Given the description of an element on the screen output the (x, y) to click on. 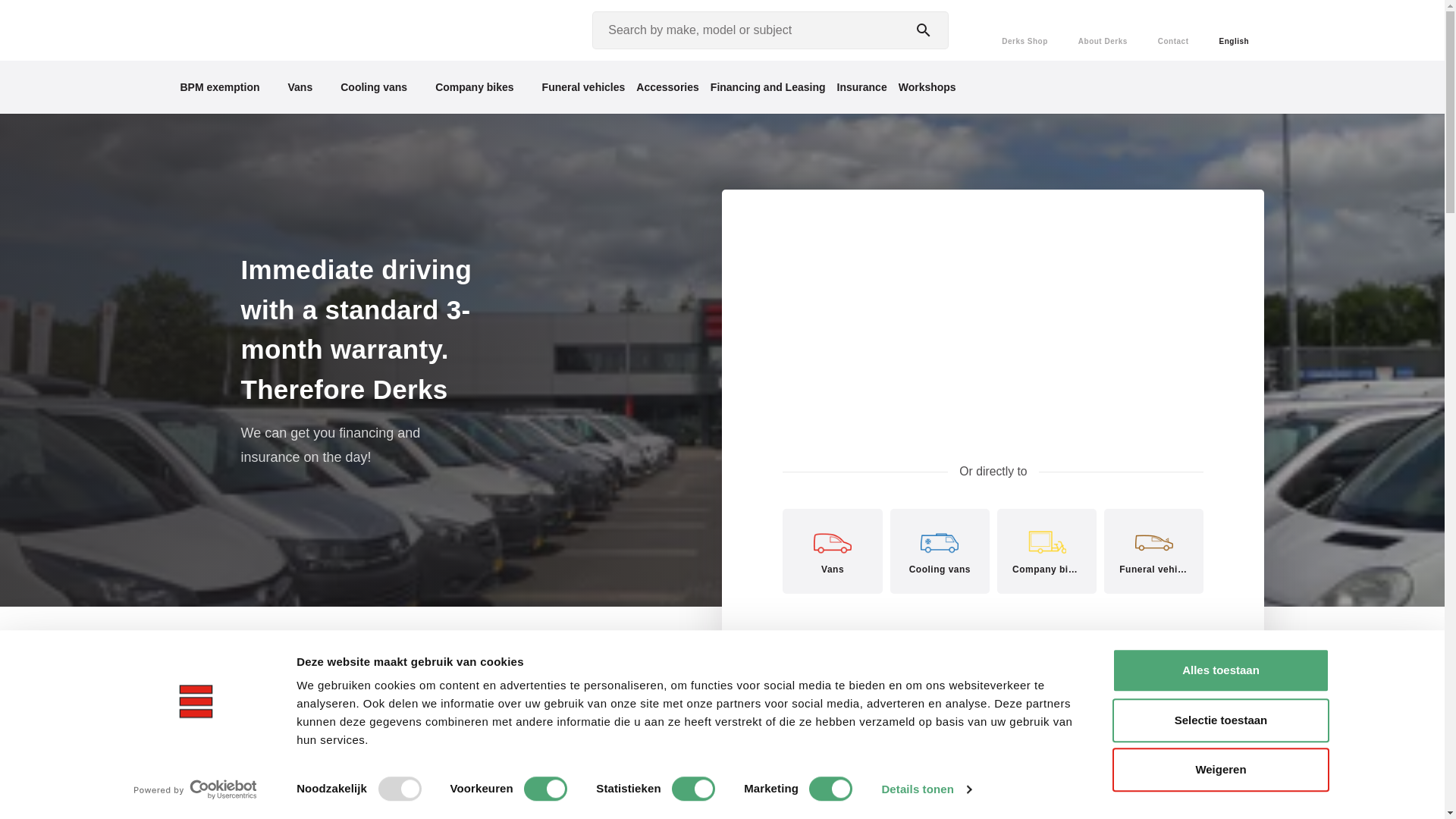
BPM exemption (220, 86)
Derks Bedrijfswagens (250, 30)
Alles toestaan (1219, 670)
Selectie toestaan (1219, 720)
Derks Shop (1024, 29)
Derks Shop (1024, 29)
Details tonen (925, 789)
Weigeren (1219, 769)
BPM exemption (220, 86)
About Derks (1102, 29)
About Derks (1102, 29)
